Given the description of an element on the screen output the (x, y) to click on. 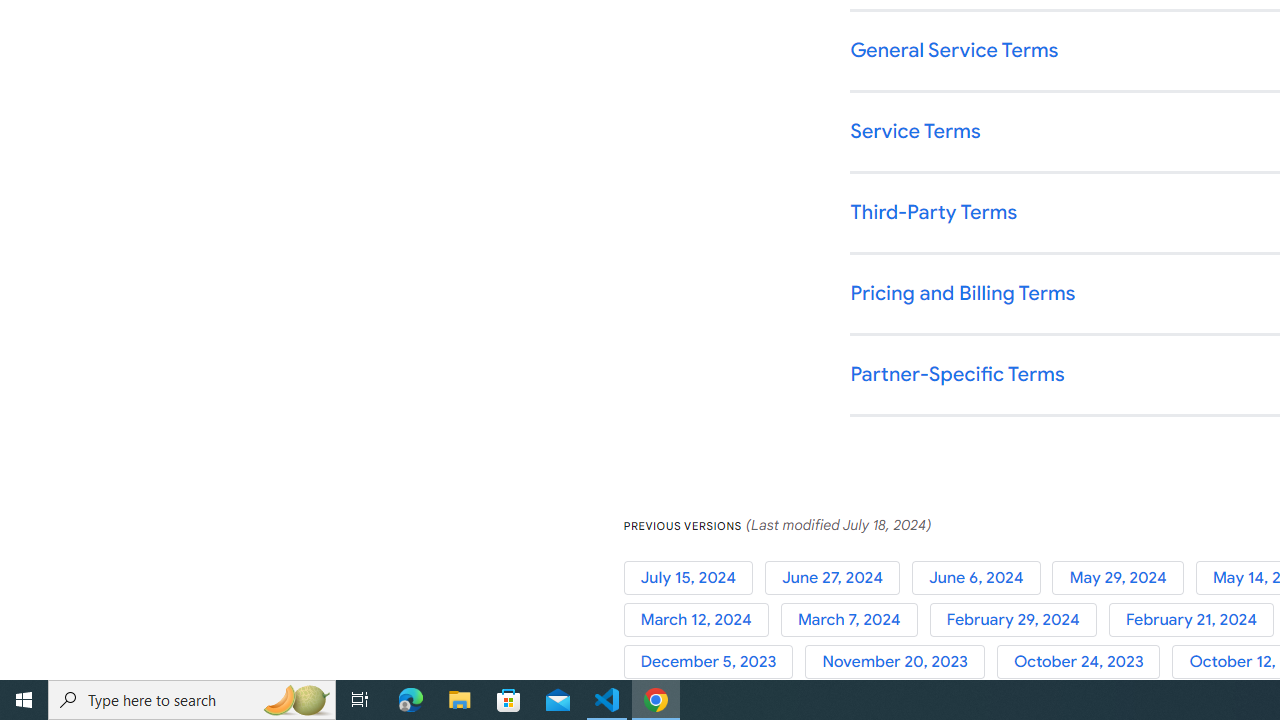
February 29, 2024 (1018, 620)
May 29, 2024 (1123, 577)
December 5, 2023 (714, 661)
July 15, 2024 (694, 577)
March 7, 2024 (854, 620)
June 6, 2024 (982, 577)
November 20, 2023 (901, 661)
June 27, 2024 (837, 577)
October 24, 2023 (1083, 661)
March 12, 2024 (701, 620)
